Given the description of an element on the screen output the (x, y) to click on. 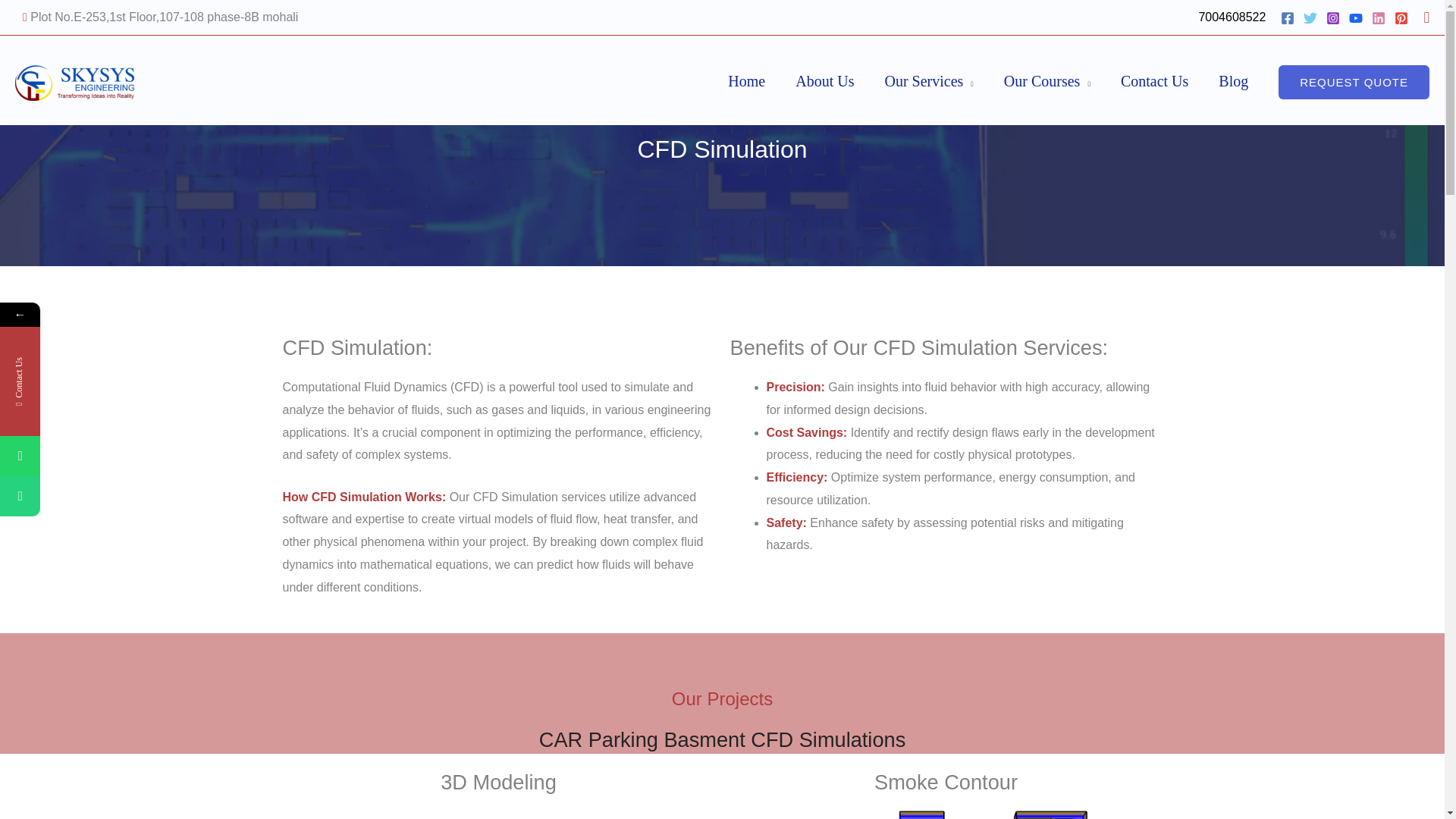
Phone (92, 495)
WhatsApp (92, 455)
Home (746, 81)
Phone (20, 495)
7004608522 (1231, 16)
Our Services (928, 81)
Search (1426, 17)
Contact Us (1154, 81)
WhatsApp (20, 455)
About Us (824, 81)
Our Courses (1046, 81)
REQUEST QUOTE (1353, 82)
Blog (1233, 81)
